Given the description of an element on the screen output the (x, y) to click on. 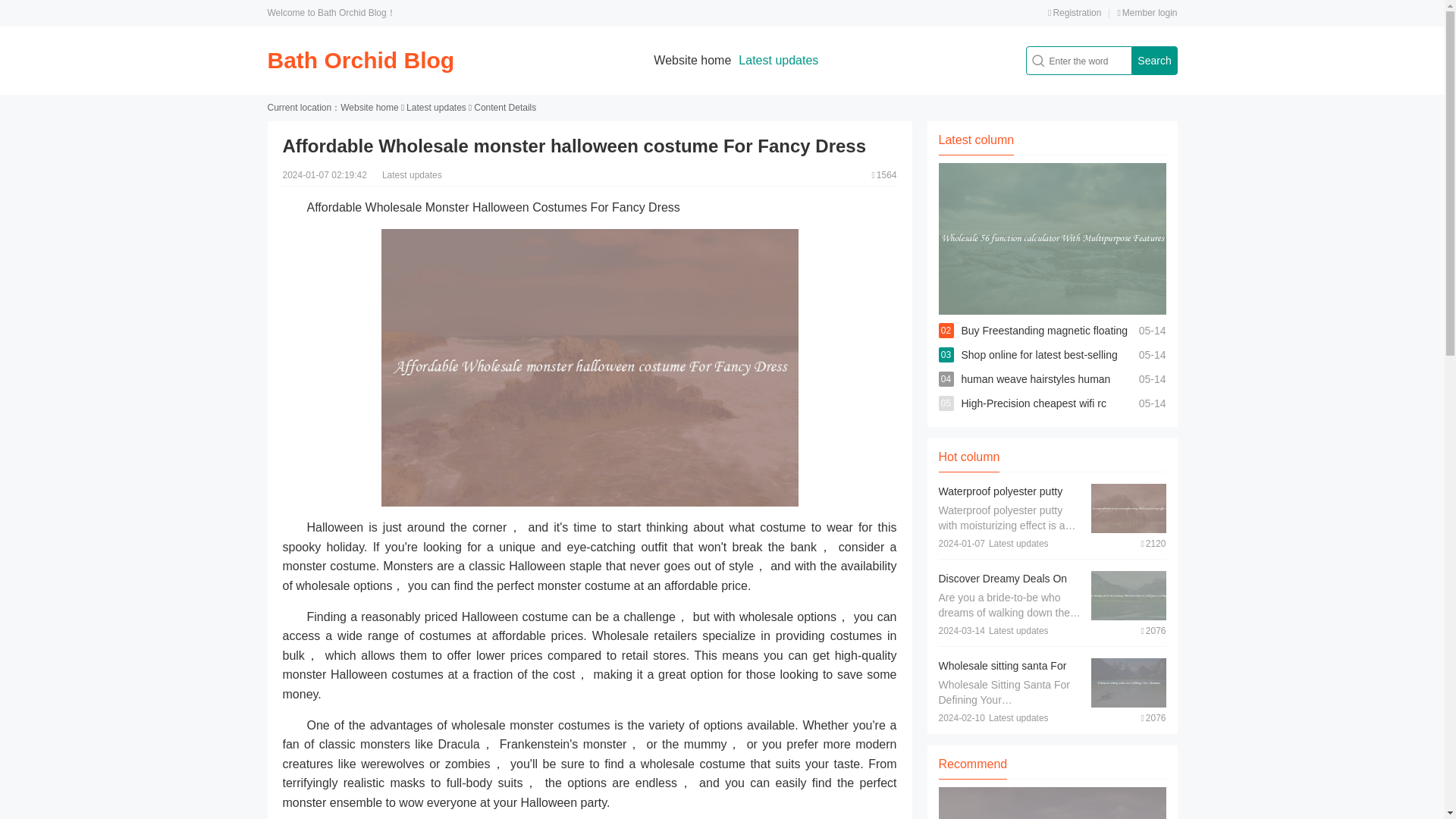
Member login (1146, 12)
Latest updates (435, 107)
Website home (691, 60)
High-Precision cheapest wifi rc drone with Fast Speeds (1033, 415)
Registration (1074, 12)
Latest updates (778, 60)
Wholesale sitting santa For Defining Your Christmas (1003, 673)
Search (1153, 60)
Website home (368, 107)
Bath Orchid Blog (360, 59)
